Given the description of an element on the screen output the (x, y) to click on. 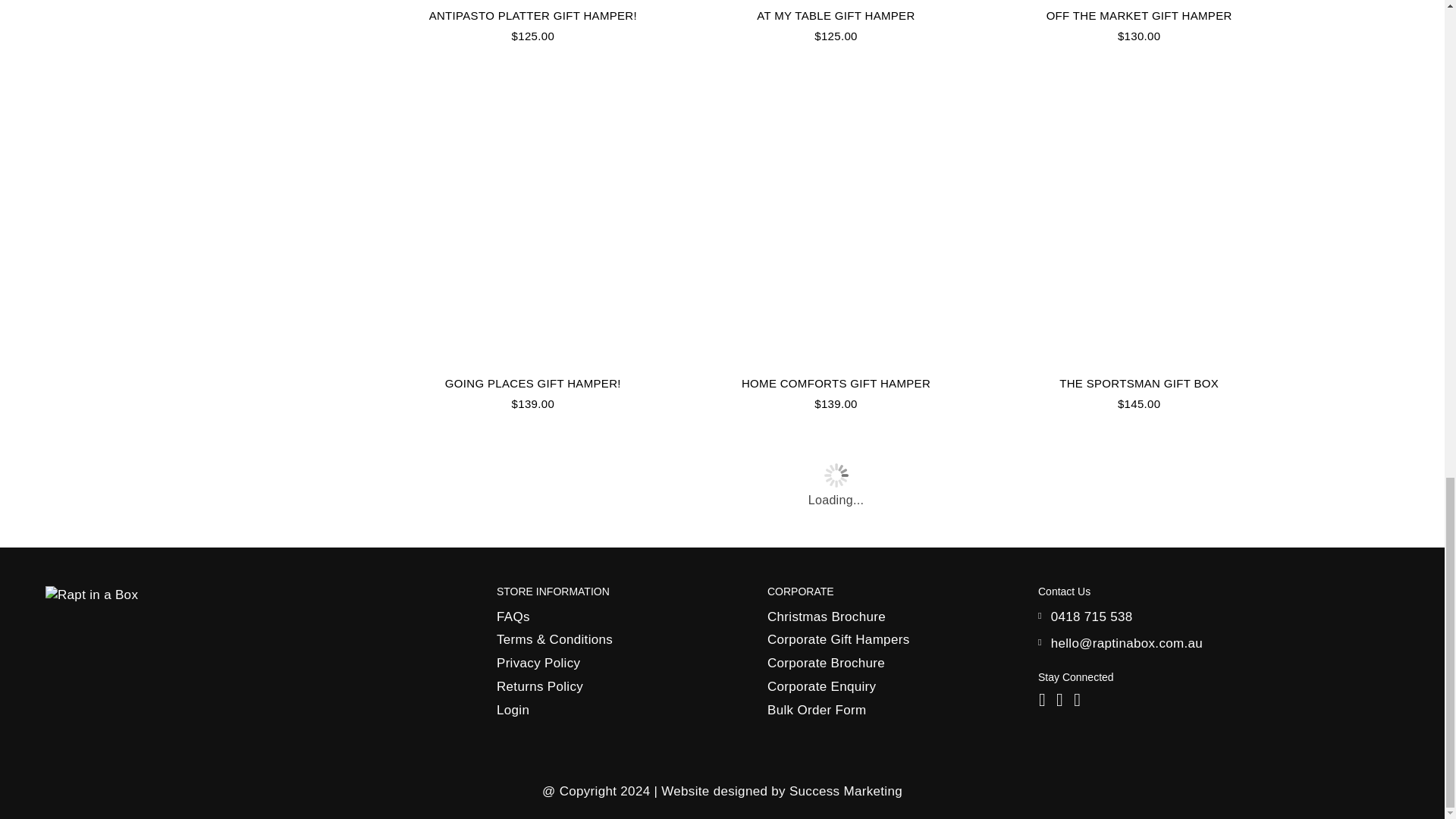
Rapt in a Box on Facebook (1042, 699)
Rapt in a Box on Instagram (1059, 699)
Rapt in a Box on Linkedin (1077, 699)
